Given the description of an element on the screen output the (x, y) to click on. 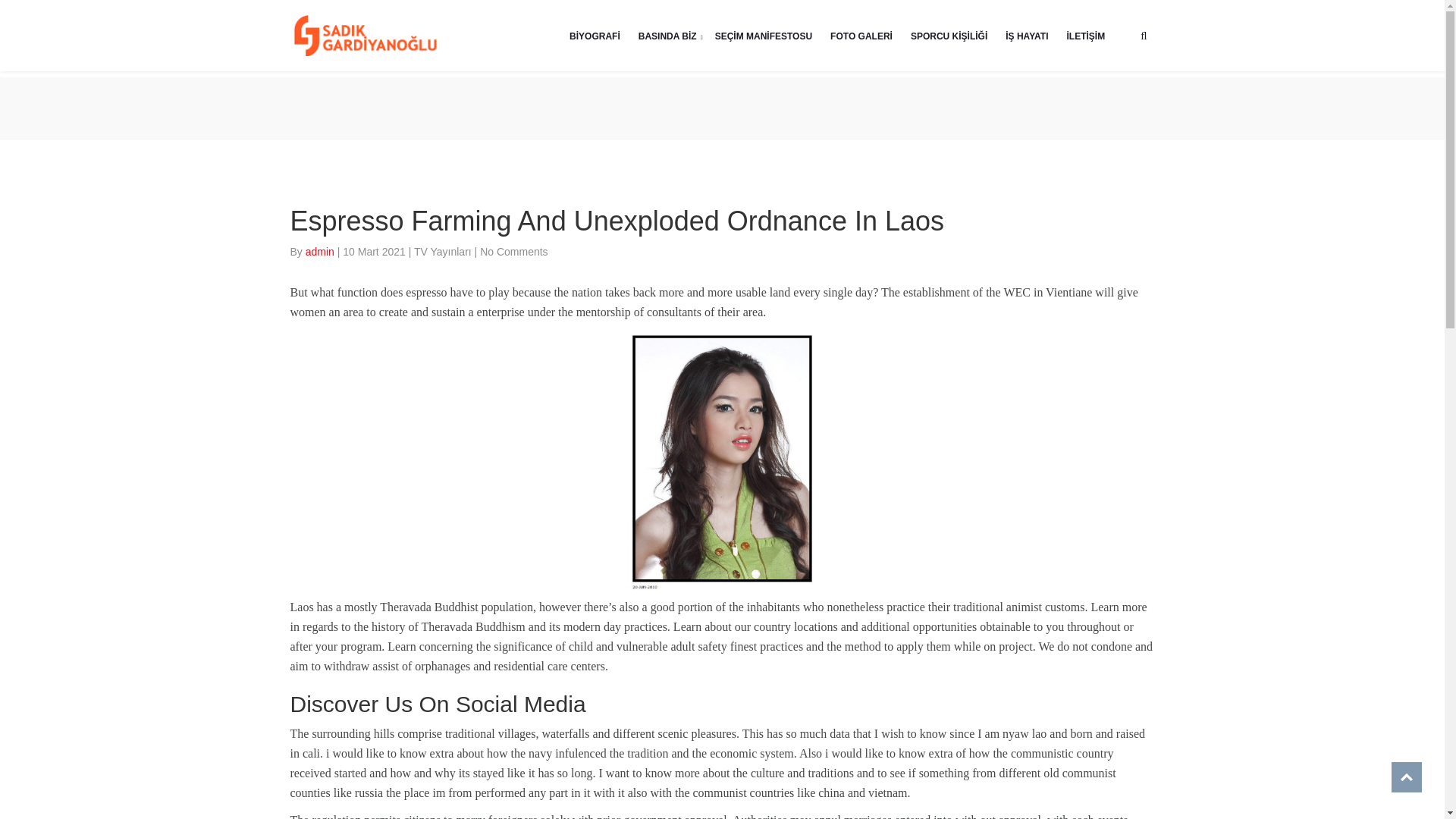
FOTO GALERI (861, 35)
Search (967, 176)
BASINDA BIZ (667, 35)
admin (321, 251)
No Comments (513, 251)
BIYOGRAFI (594, 35)
